Given the description of an element on the screen output the (x, y) to click on. 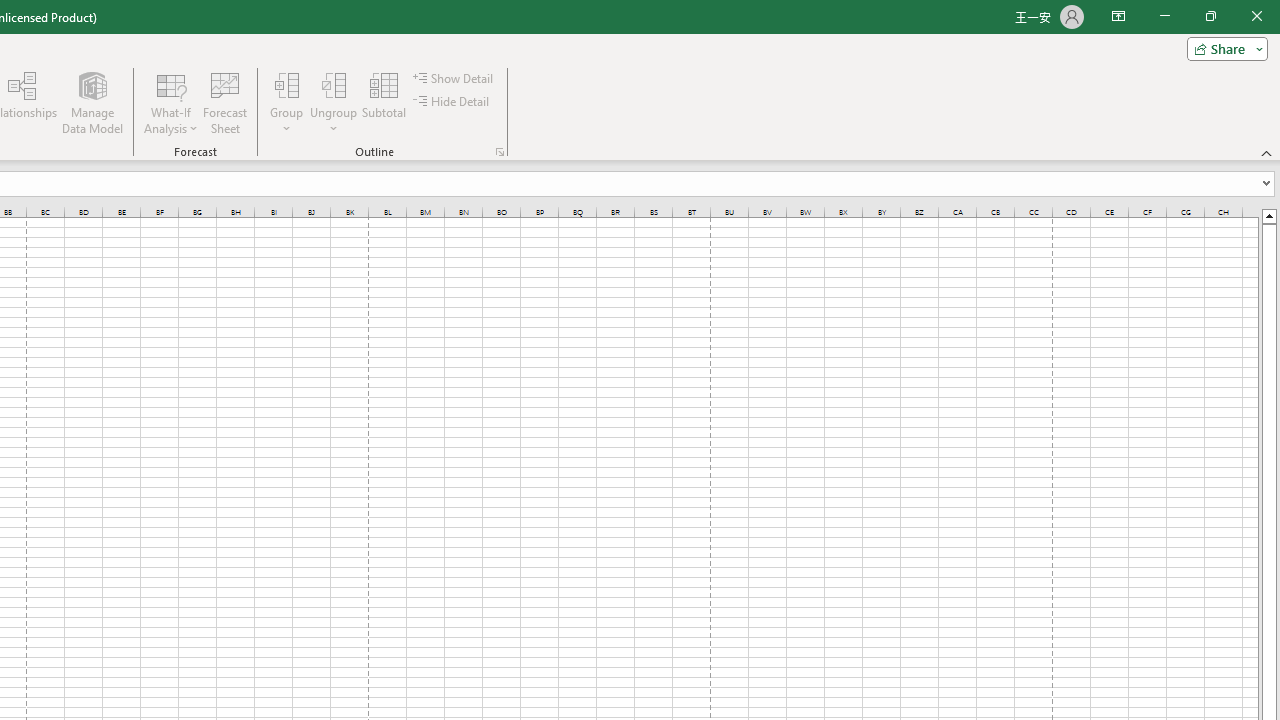
Ungroup... (333, 102)
Group... (287, 84)
Share (1223, 48)
Manage Data Model (92, 102)
Collapse the Ribbon (1267, 152)
Ungroup... (333, 84)
Show Detail (454, 78)
Ribbon Display Options (1118, 16)
Close (1256, 16)
Forecast Sheet (224, 102)
What-If Analysis (171, 102)
Restore Down (1210, 16)
Line up (1268, 215)
Subtotal (384, 102)
